Given the description of an element on the screen output the (x, y) to click on. 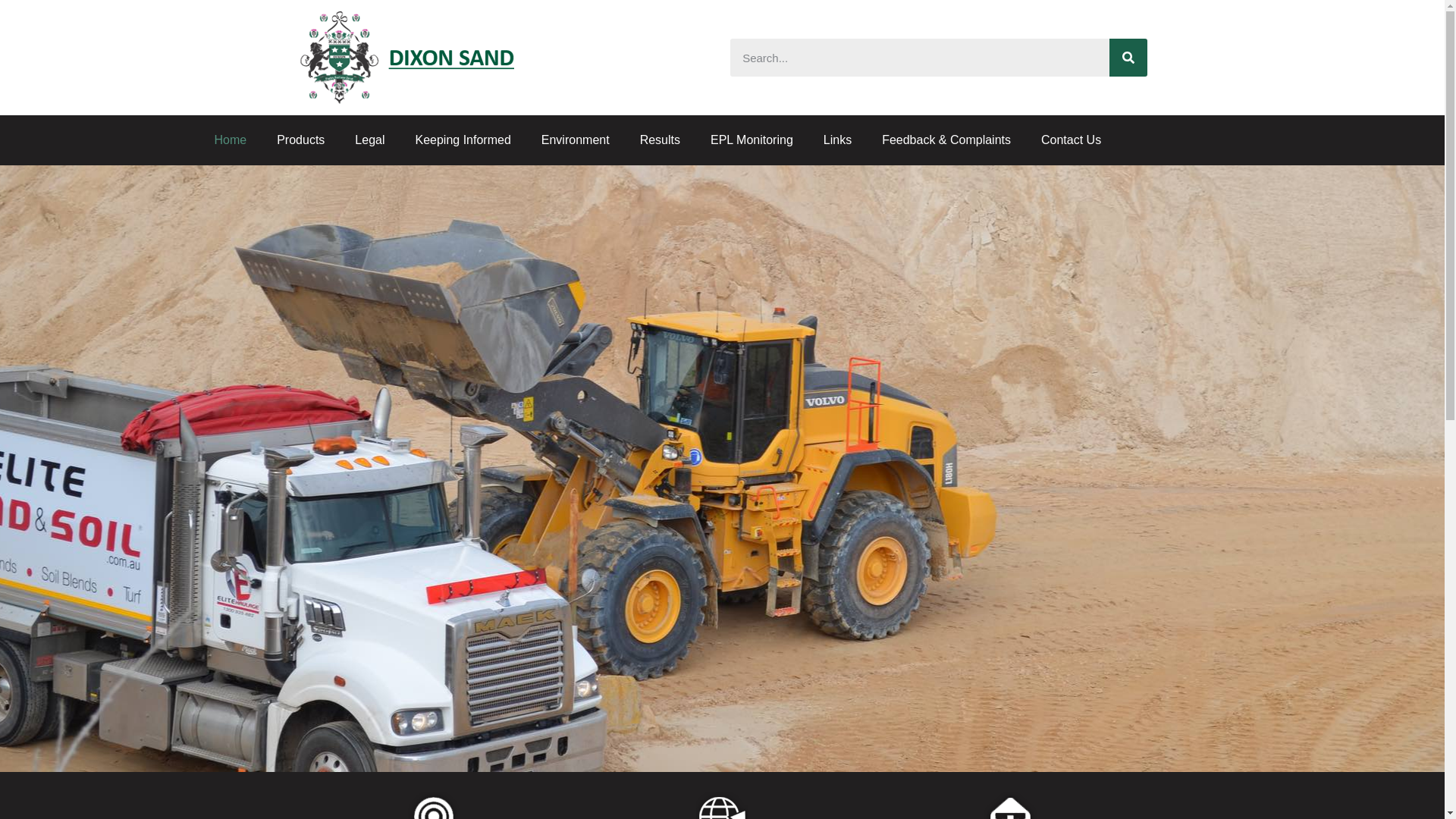
Environment Element type: text (575, 139)
EPL Monitoring Element type: text (751, 139)
Links Element type: text (837, 139)
Results Element type: text (659, 139)
Home Element type: text (229, 139)
Keeping Informed Element type: text (462, 139)
Feedback & Complaints Element type: text (946, 139)
Contact Us Element type: text (1071, 139)
Legal Element type: text (369, 139)
Products Element type: text (300, 139)
